Given the description of an element on the screen output the (x, y) to click on. 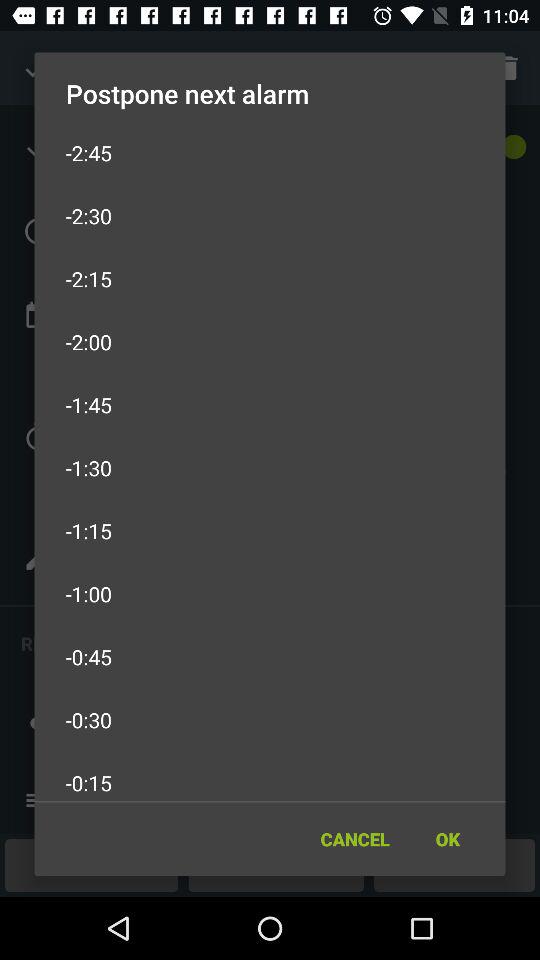
select the ok icon (447, 838)
